Given the description of an element on the screen output the (x, y) to click on. 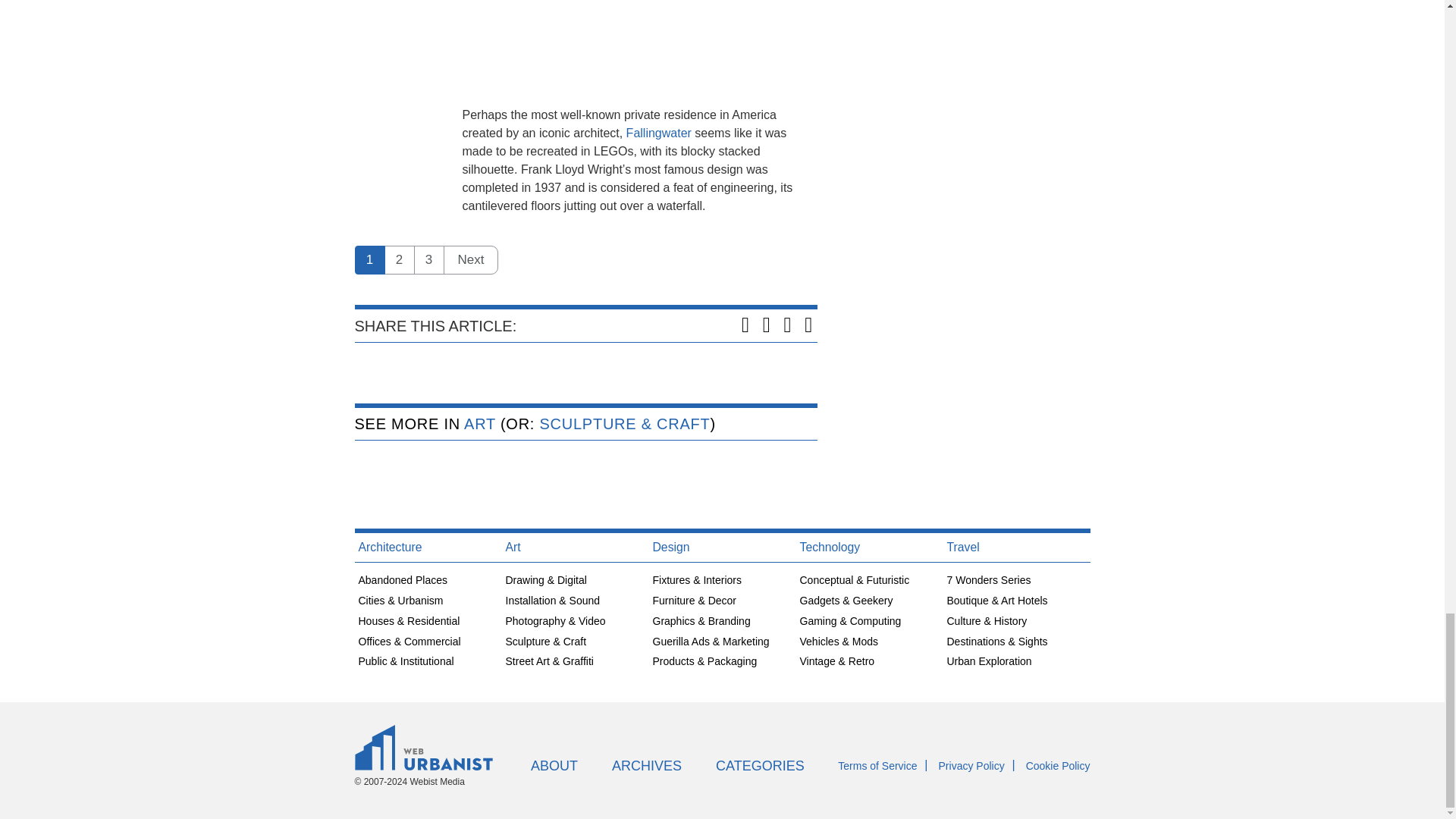
ART (480, 423)
1 (370, 259)
Next (469, 259)
3 (428, 259)
Fallingwater (660, 132)
2 (398, 259)
